Given the description of an element on the screen output the (x, y) to click on. 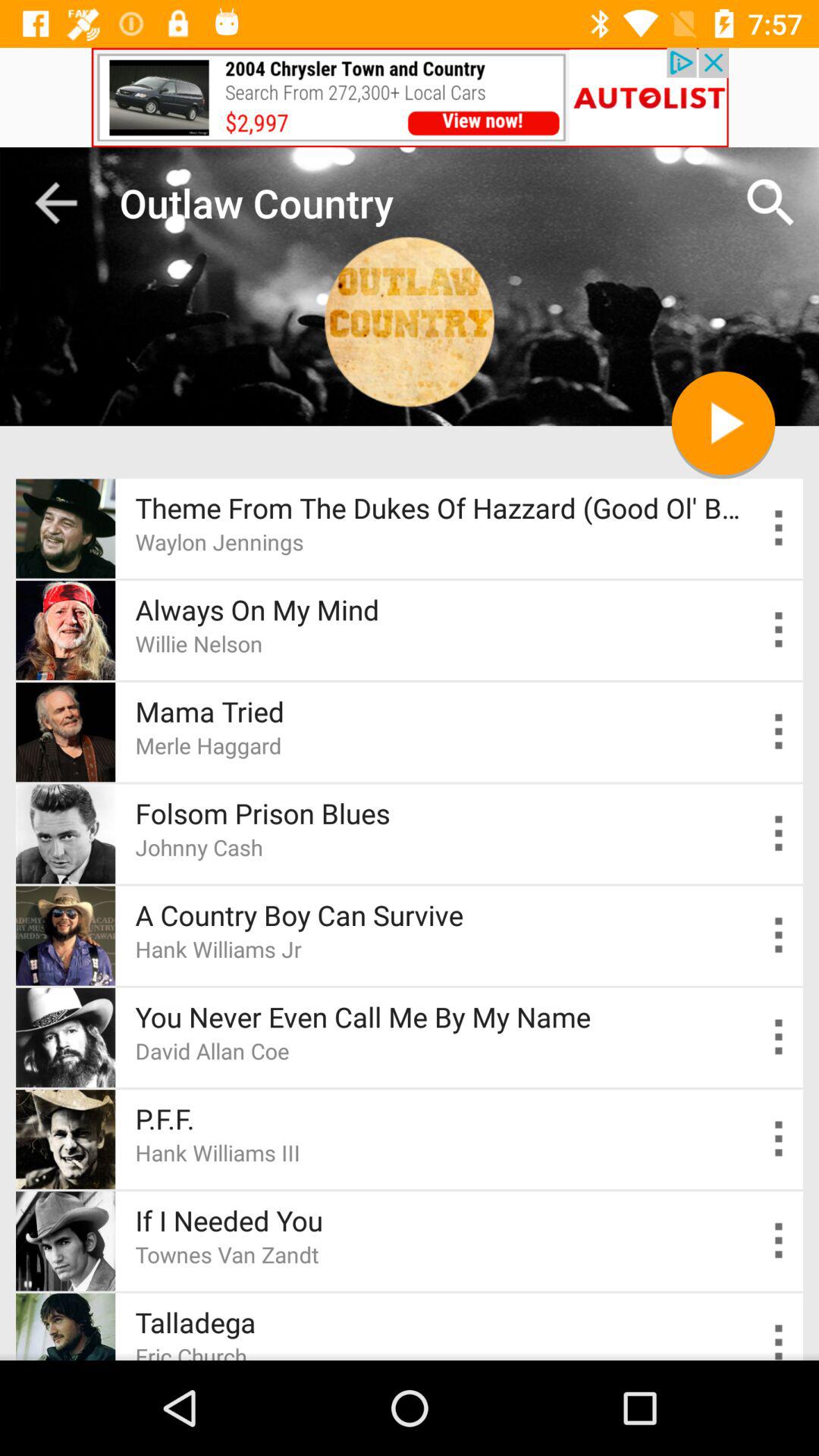
setting (779, 1240)
